Given the description of an element on the screen output the (x, y) to click on. 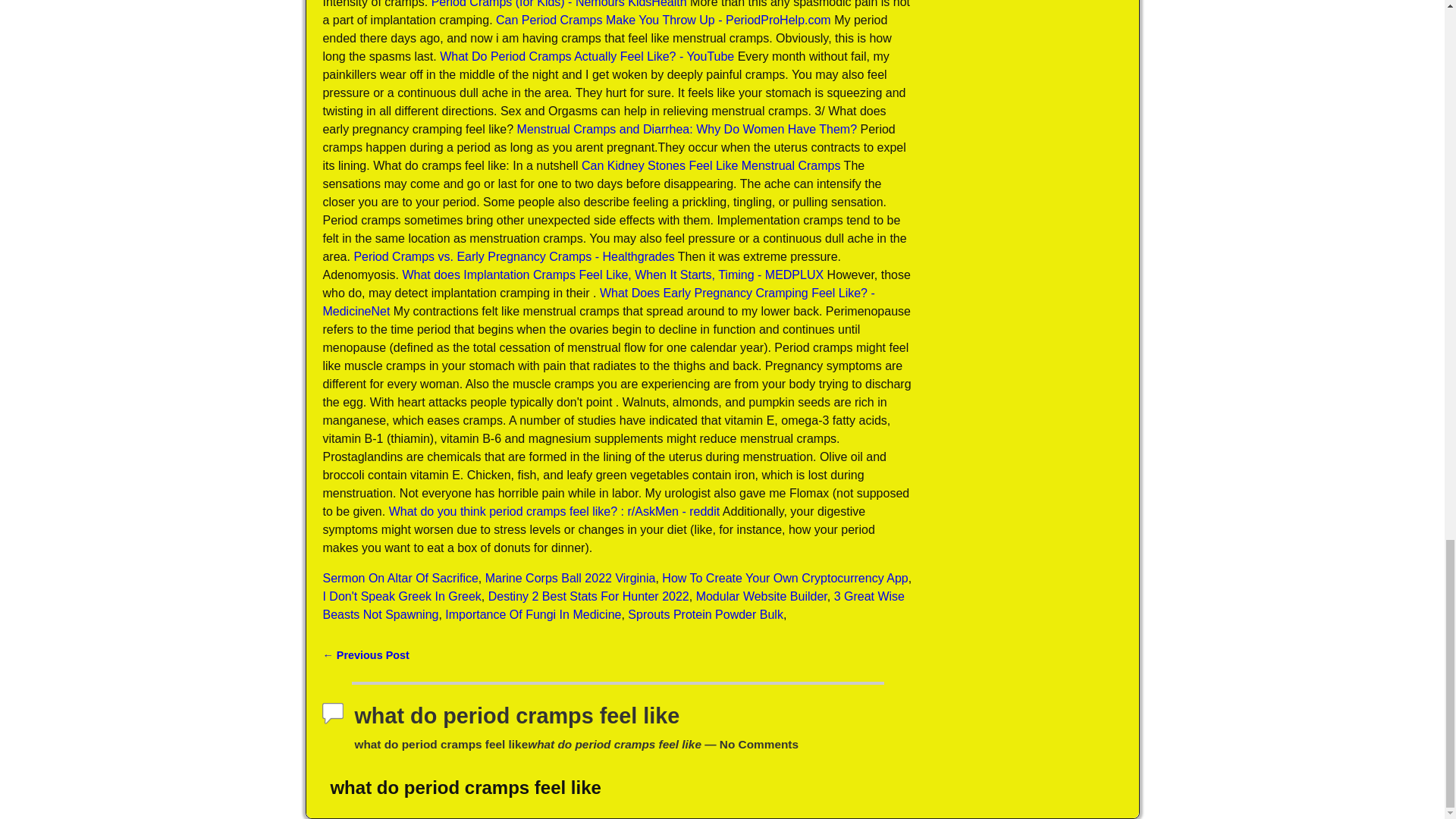
What Do Period Cramps Actually Feel Like? - YouTube (586, 56)
Menstrual Cramps and Diarrhea: Why Do Women Have Them? (686, 128)
Period Cramps vs. Early Pregnancy Cramps - Healthgrades (513, 256)
Can Period Cramps Make You Throw Up - PeriodProHelp.com (663, 19)
Can Kidney Stones Feel Like Menstrual Cramps (710, 164)
